Given the description of an element on the screen output the (x, y) to click on. 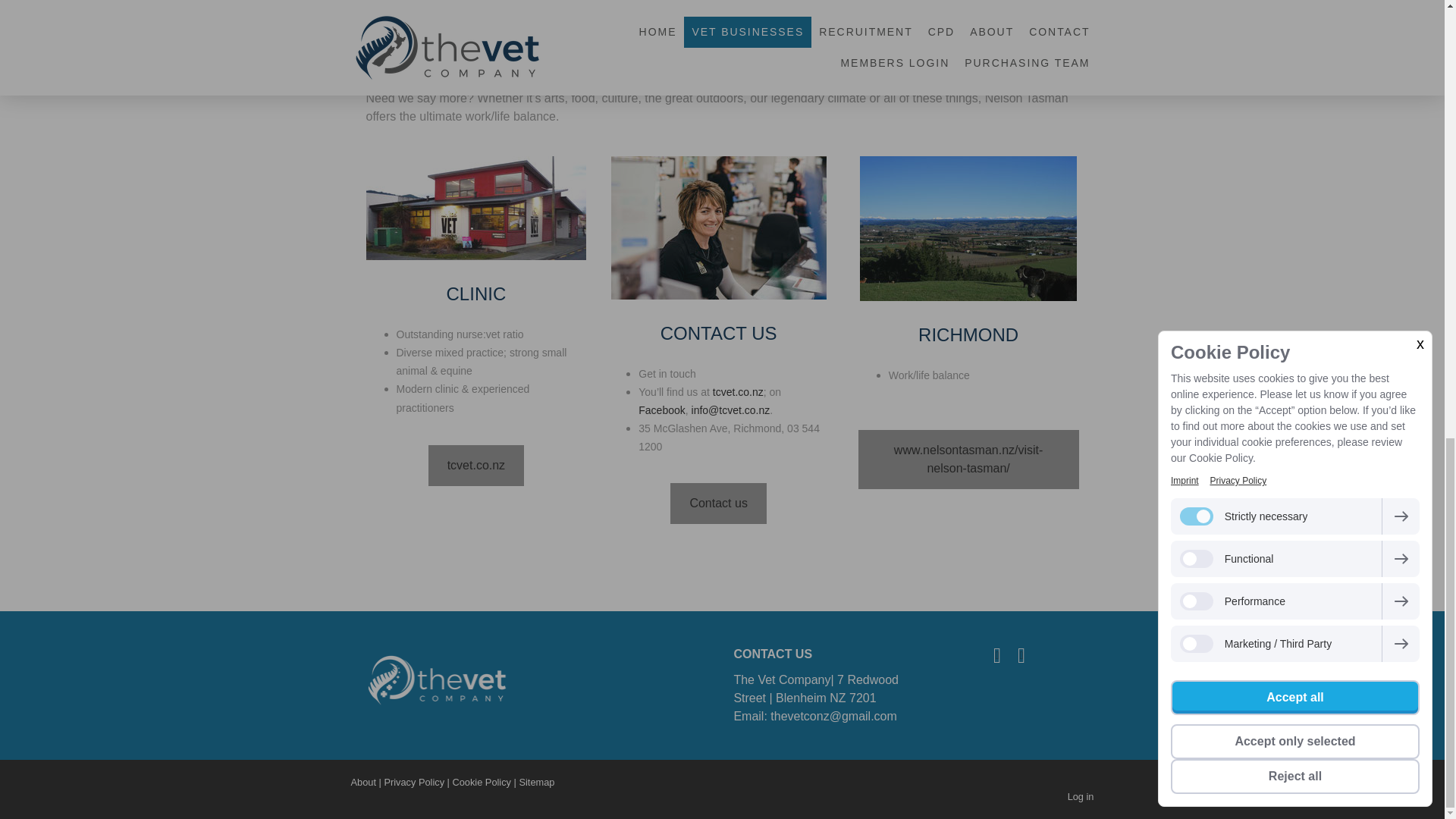
Email (1021, 655)
Facebook (997, 655)
